Given the description of an element on the screen output the (x, y) to click on. 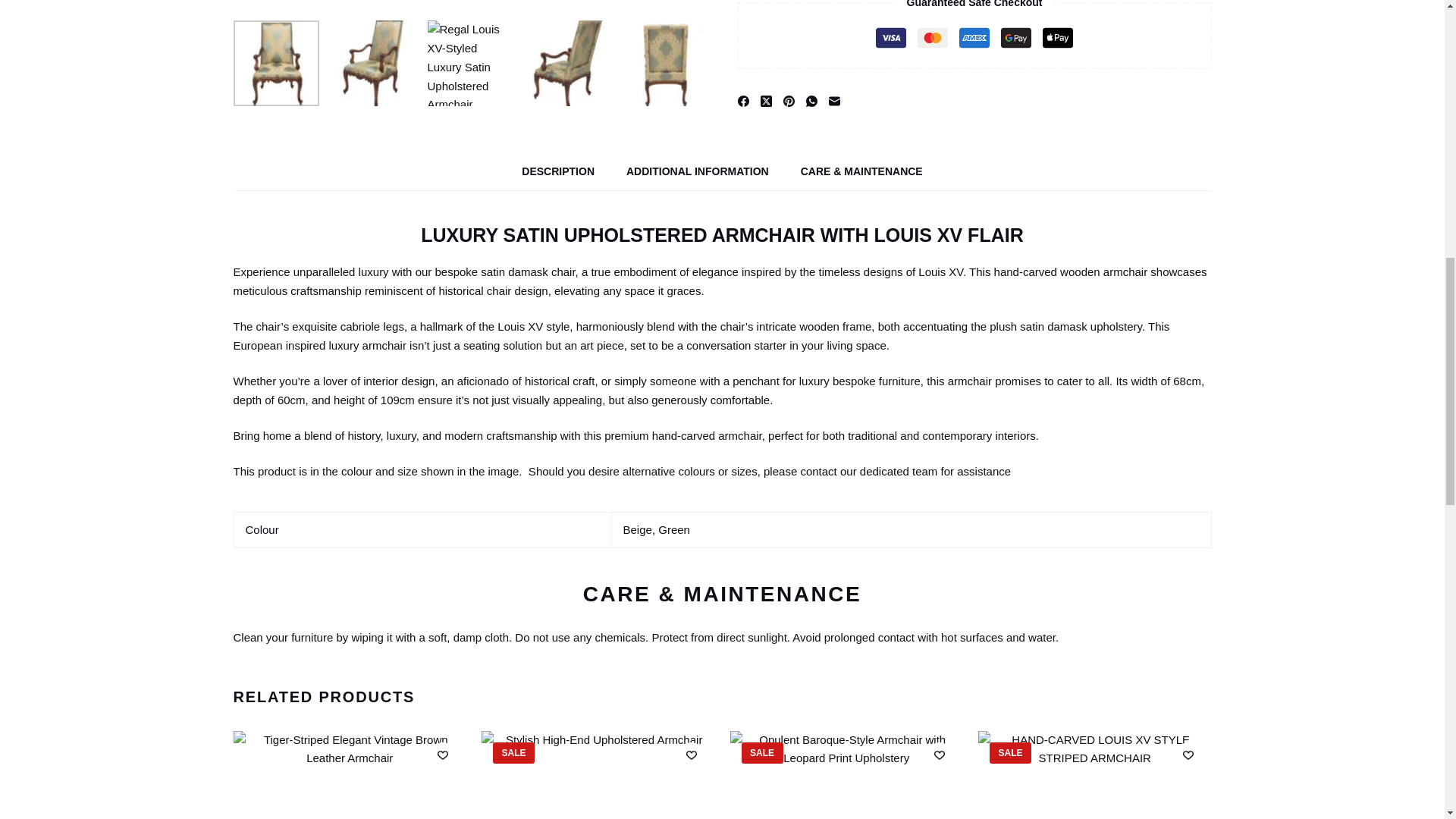
Luxury Satin Upholstered Armchair (275, 38)
